Given the description of an element on the screen output the (x, y) to click on. 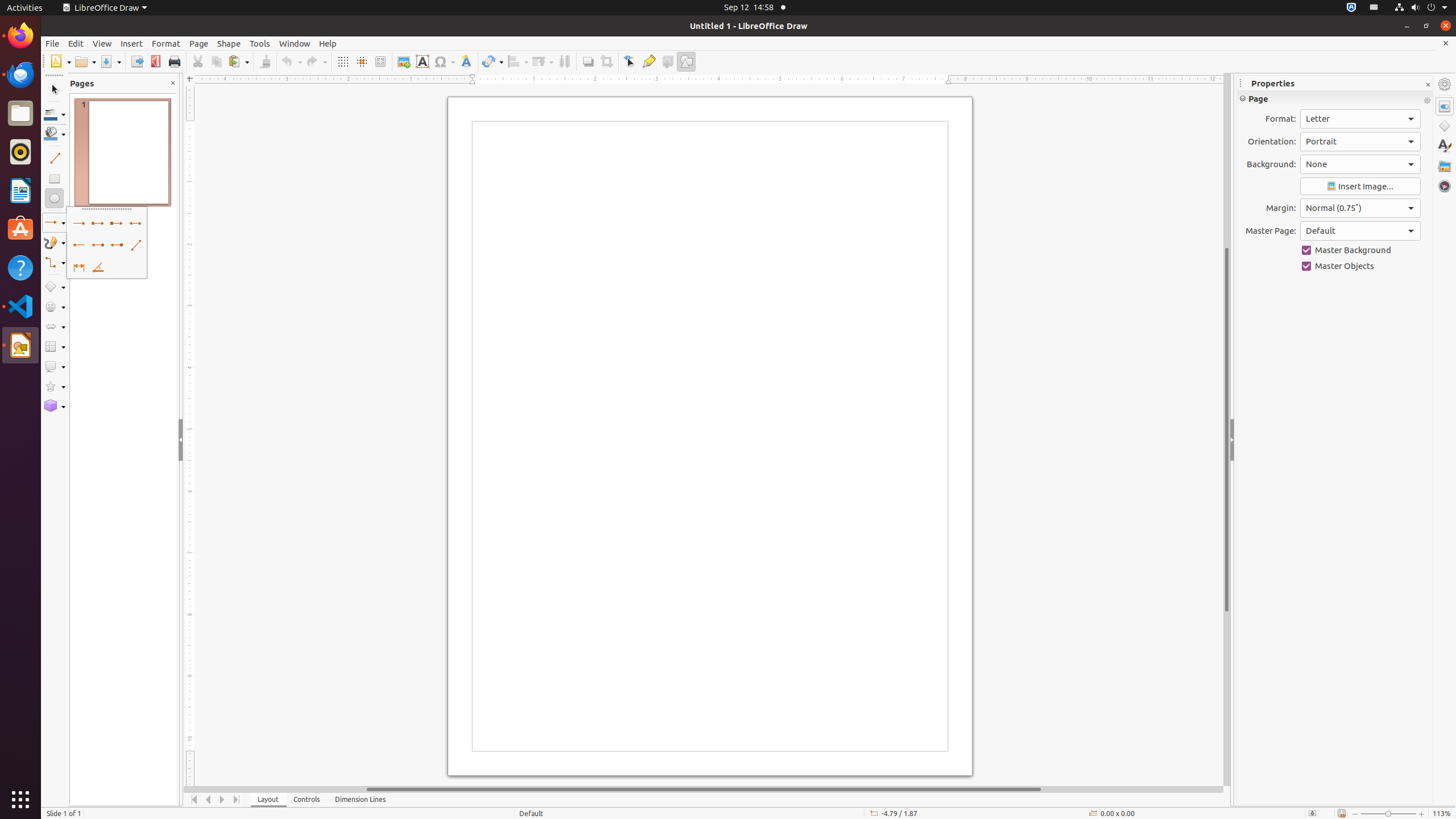
Show Applications Element type: toggle-button (20, 799)
View Element type: menu (102, 43)
Shadow Element type: toggle-button (587, 61)
Dimension Lines Element type: page-tab (360, 799)
Save Element type: push-button (109, 61)
